Given the description of an element on the screen output the (x, y) to click on. 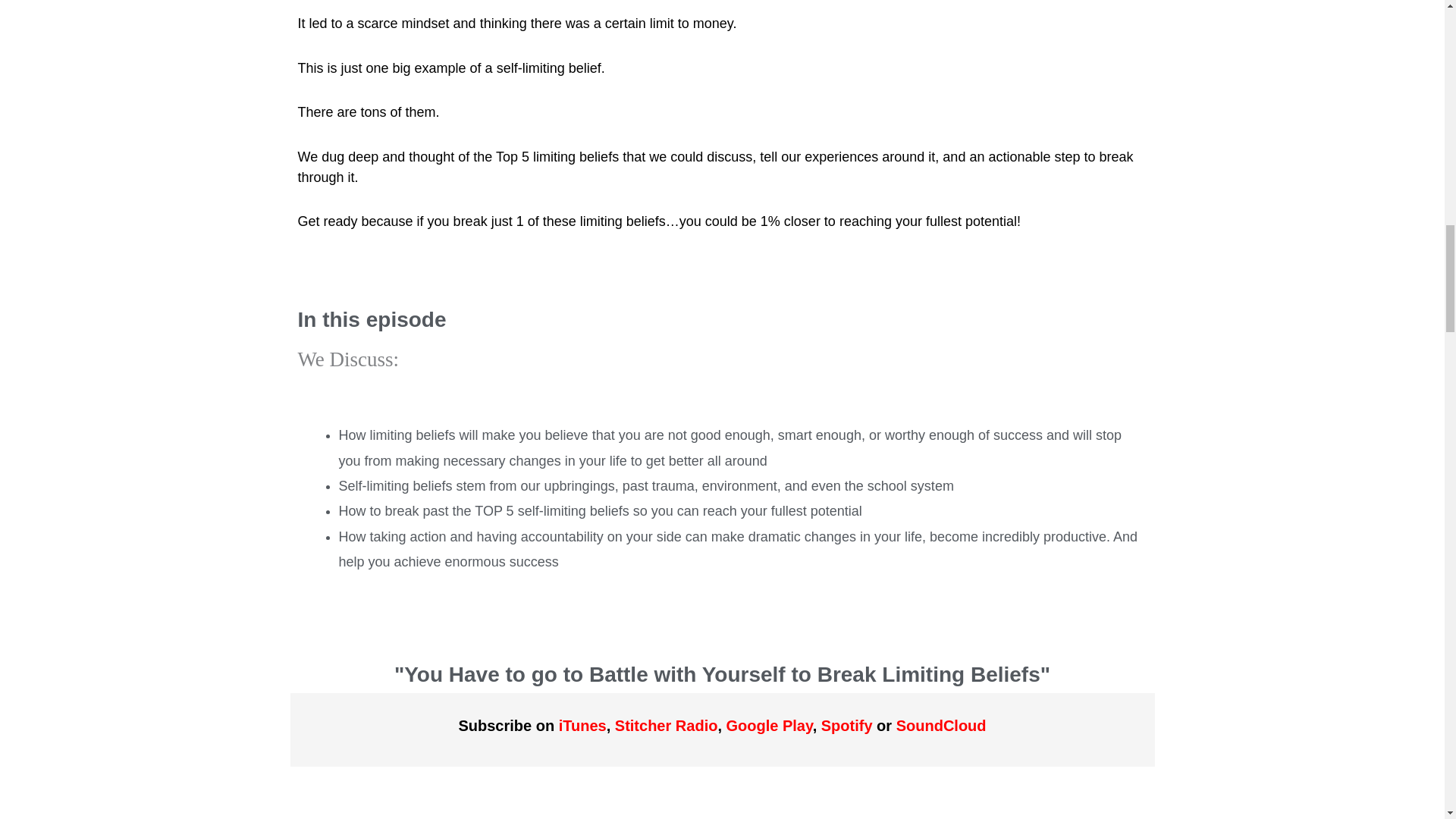
SoundCloud (941, 725)
Stitcher Radio (665, 725)
iTunes (583, 725)
Google Play (769, 725)
Spotify (846, 725)
